Given the description of an element on the screen output the (x, y) to click on. 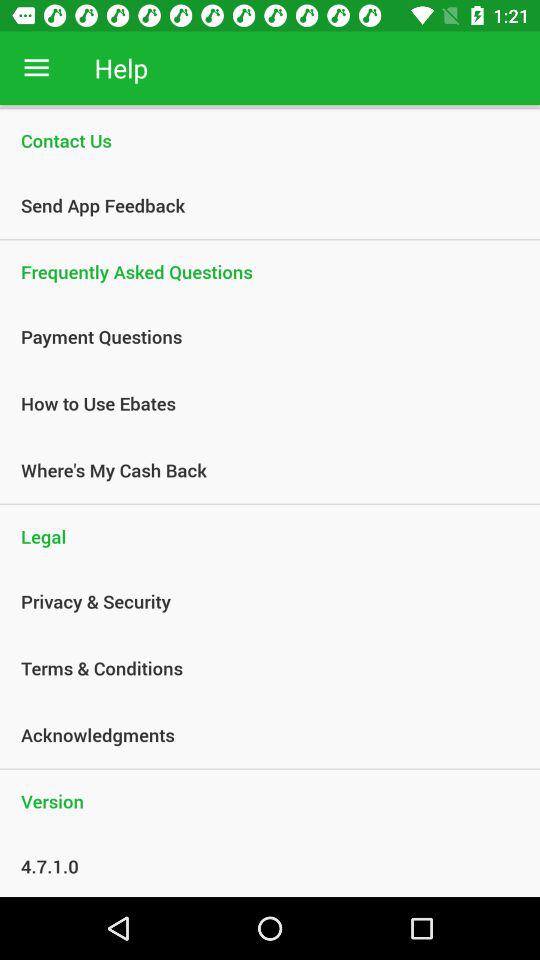
flip until the frequently asked questions item (270, 271)
